Given the description of an element on the screen output the (x, y) to click on. 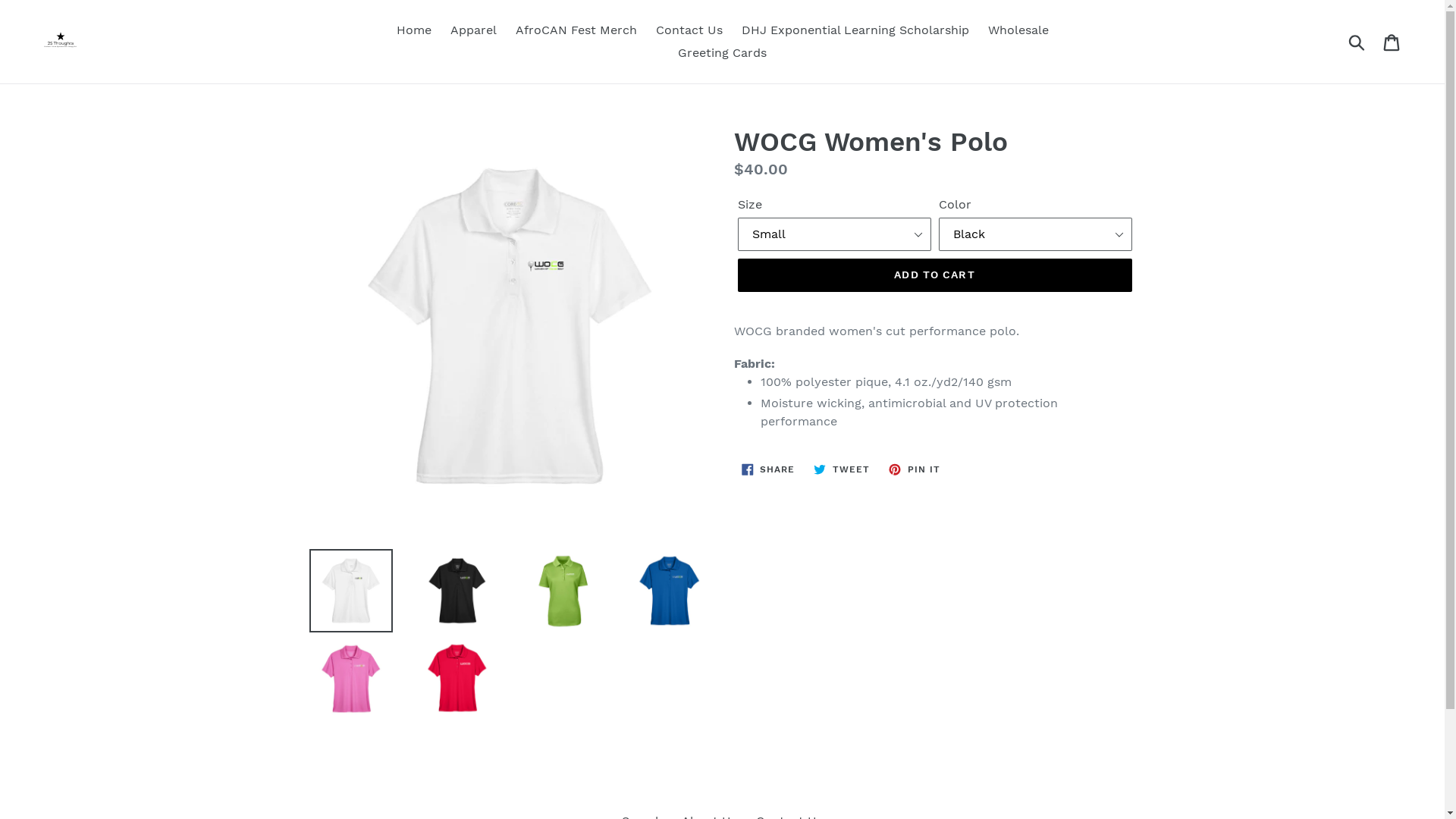
PIN IT
PIN ON PINTEREST Element type: text (914, 469)
Home Element type: text (413, 29)
Submit Element type: text (1357, 41)
SHARE
SHARE ON FACEBOOK Element type: text (768, 469)
AfroCAN Fest Merch Element type: text (576, 29)
Greeting Cards Element type: text (722, 52)
Apparel Element type: text (473, 29)
TWEET
TWEET ON TWITTER Element type: text (841, 469)
Wholesale Element type: text (1017, 29)
DHJ Exponential Learning Scholarship Element type: text (855, 29)
Cart Element type: text (1392, 42)
ADD TO CART Element type: text (934, 274)
Contact Us Element type: text (688, 29)
